Given the description of an element on the screen output the (x, y) to click on. 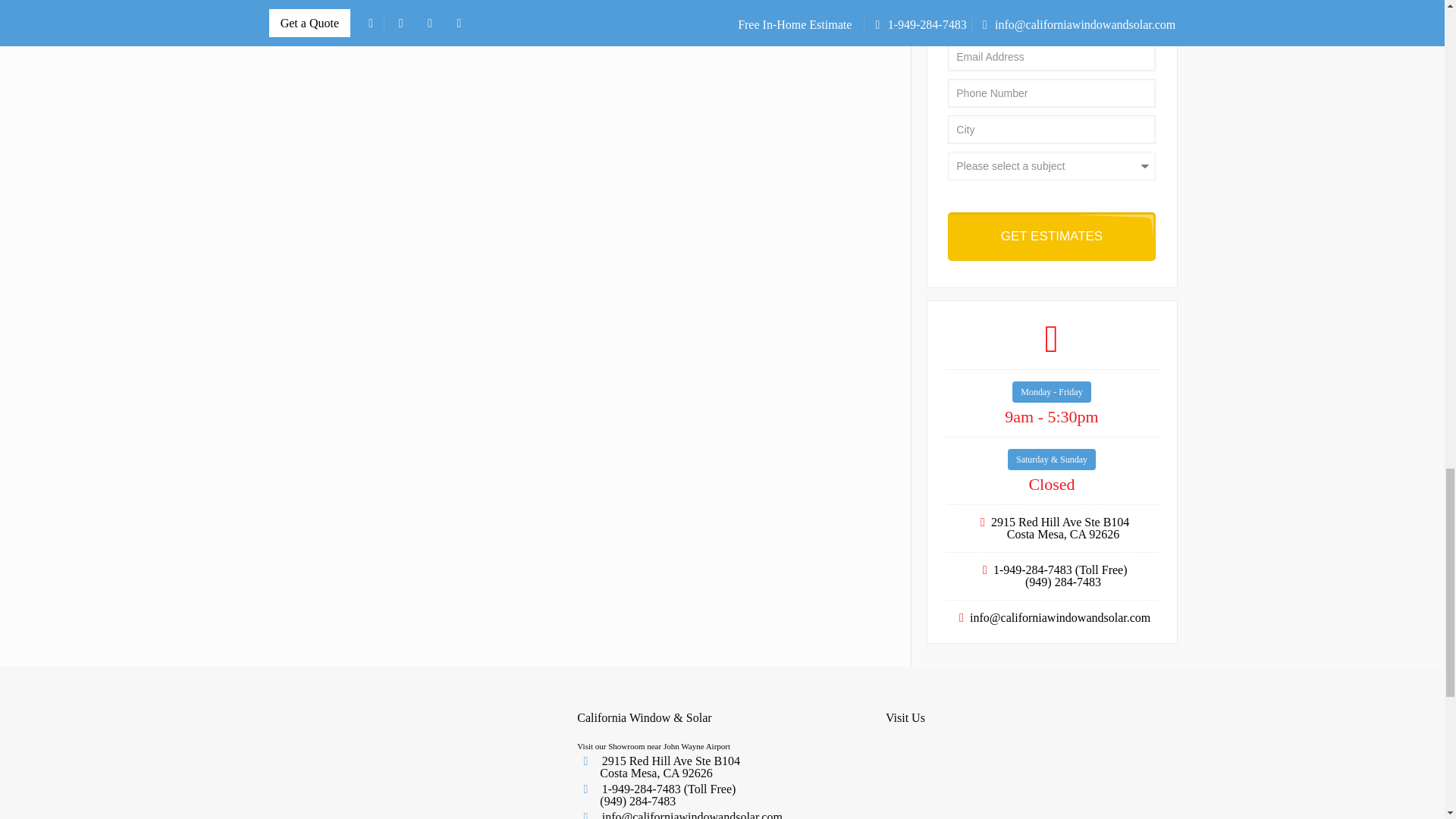
GET ESTIMATES (1050, 236)
